Given the description of an element on the screen output the (x, y) to click on. 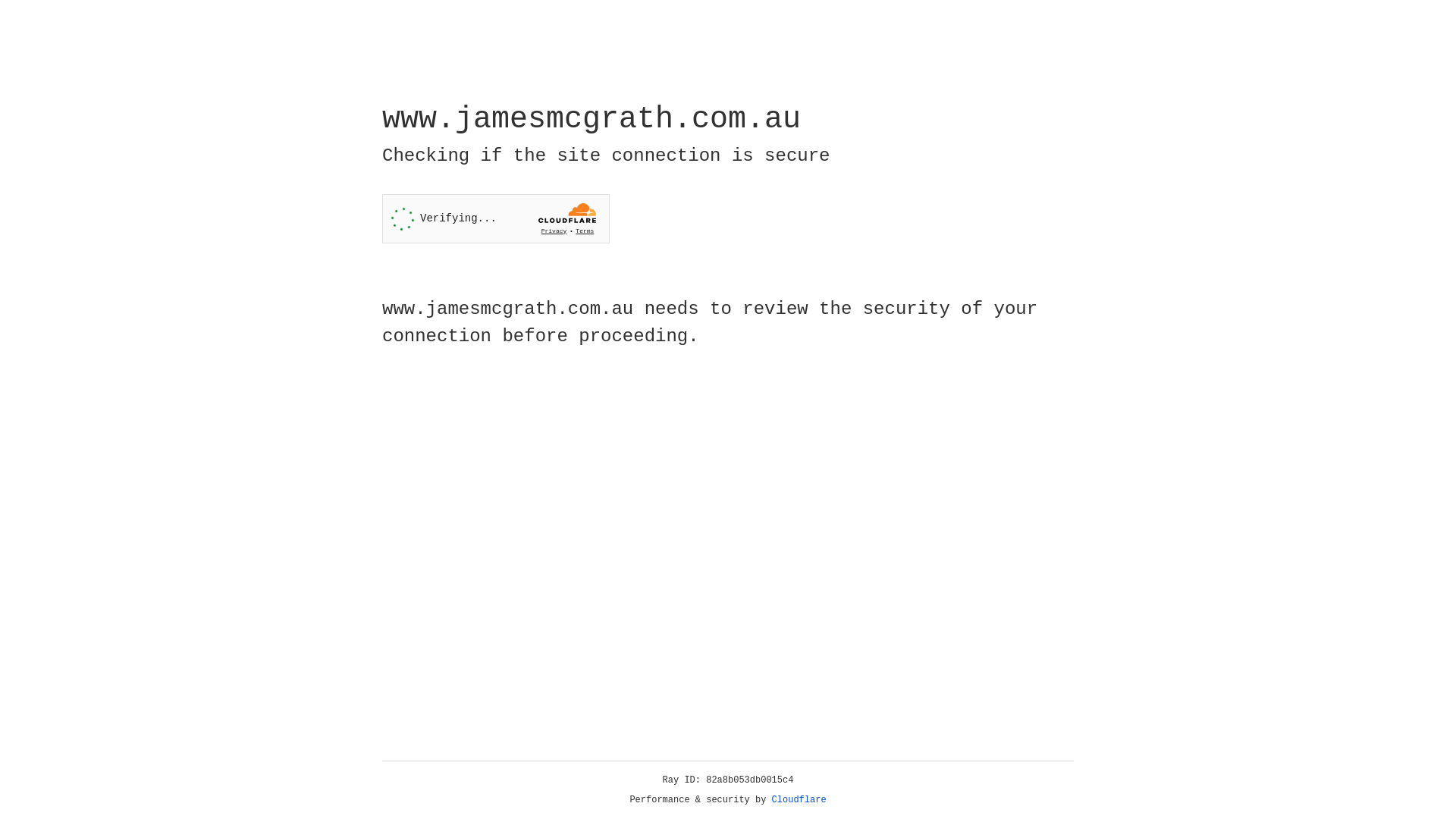
Cloudflare Element type: text (798, 799)
Widget containing a Cloudflare security challenge Element type: hover (495, 218)
